Given the description of an element on the screen output the (x, y) to click on. 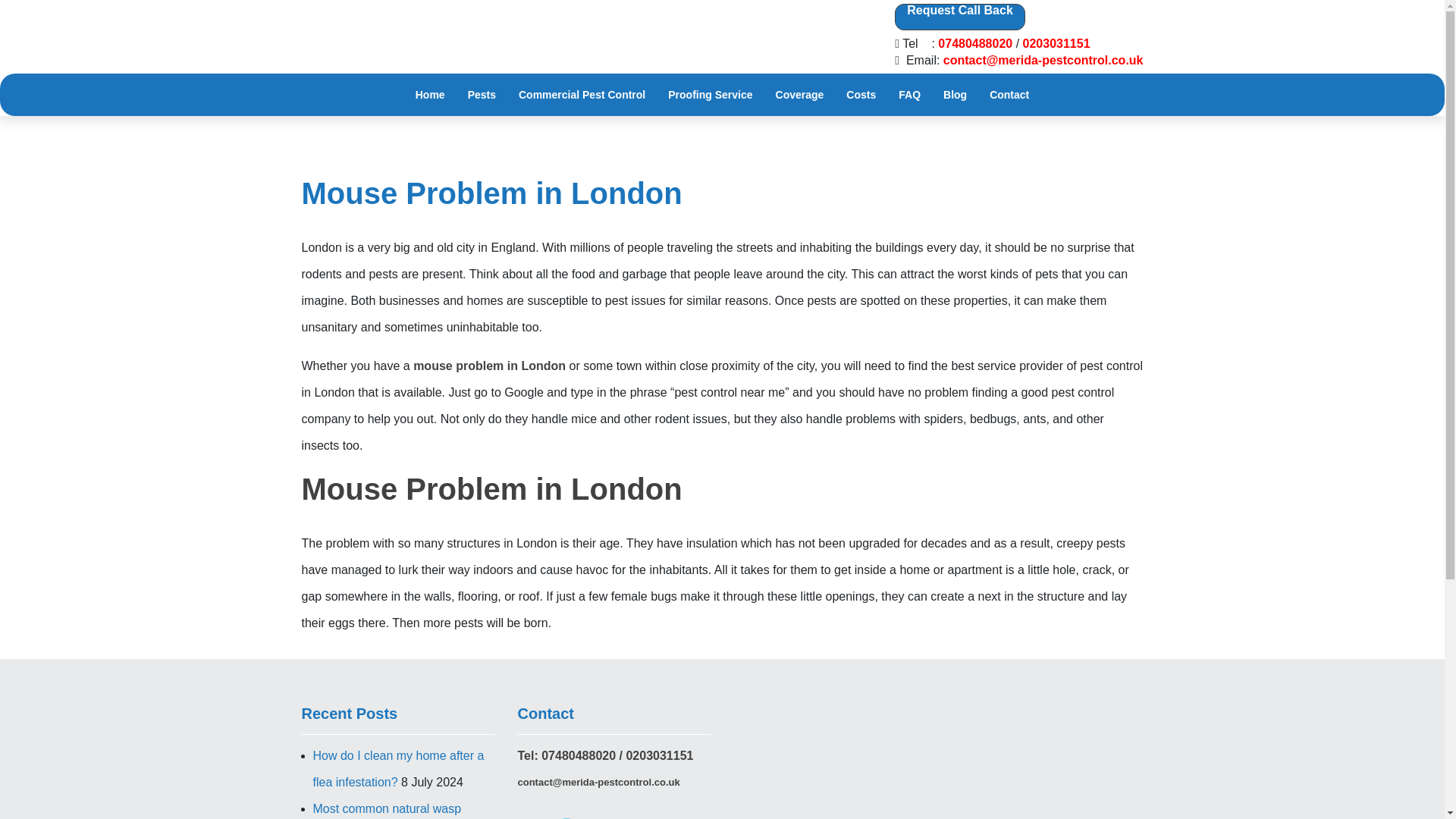
07480488020 (974, 43)
Proofing Service (710, 94)
Pests (481, 94)
0203031151 (1056, 43)
Commercial Pest Control (581, 94)
Request Call Back (960, 17)
Home (429, 94)
Coverage (800, 94)
